Given the description of an element on the screen output the (x, y) to click on. 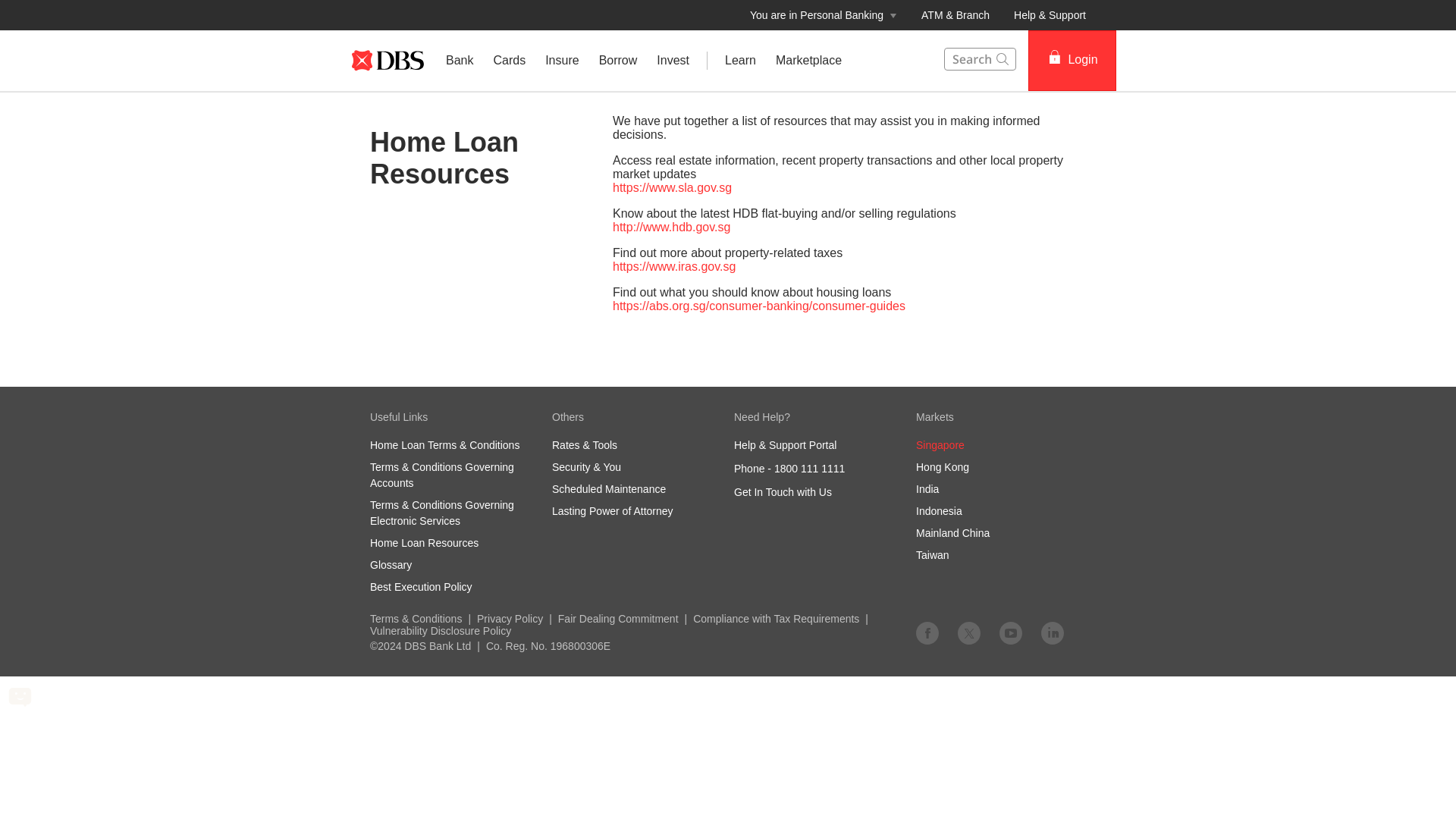
Marketplace (808, 60)
Learn (739, 60)
Cards (509, 60)
Invest (672, 60)
Insure (561, 60)
Borrow (618, 60)
Login (1071, 60)
You are in Personal Banking (823, 15)
